Given the description of an element on the screen output the (x, y) to click on. 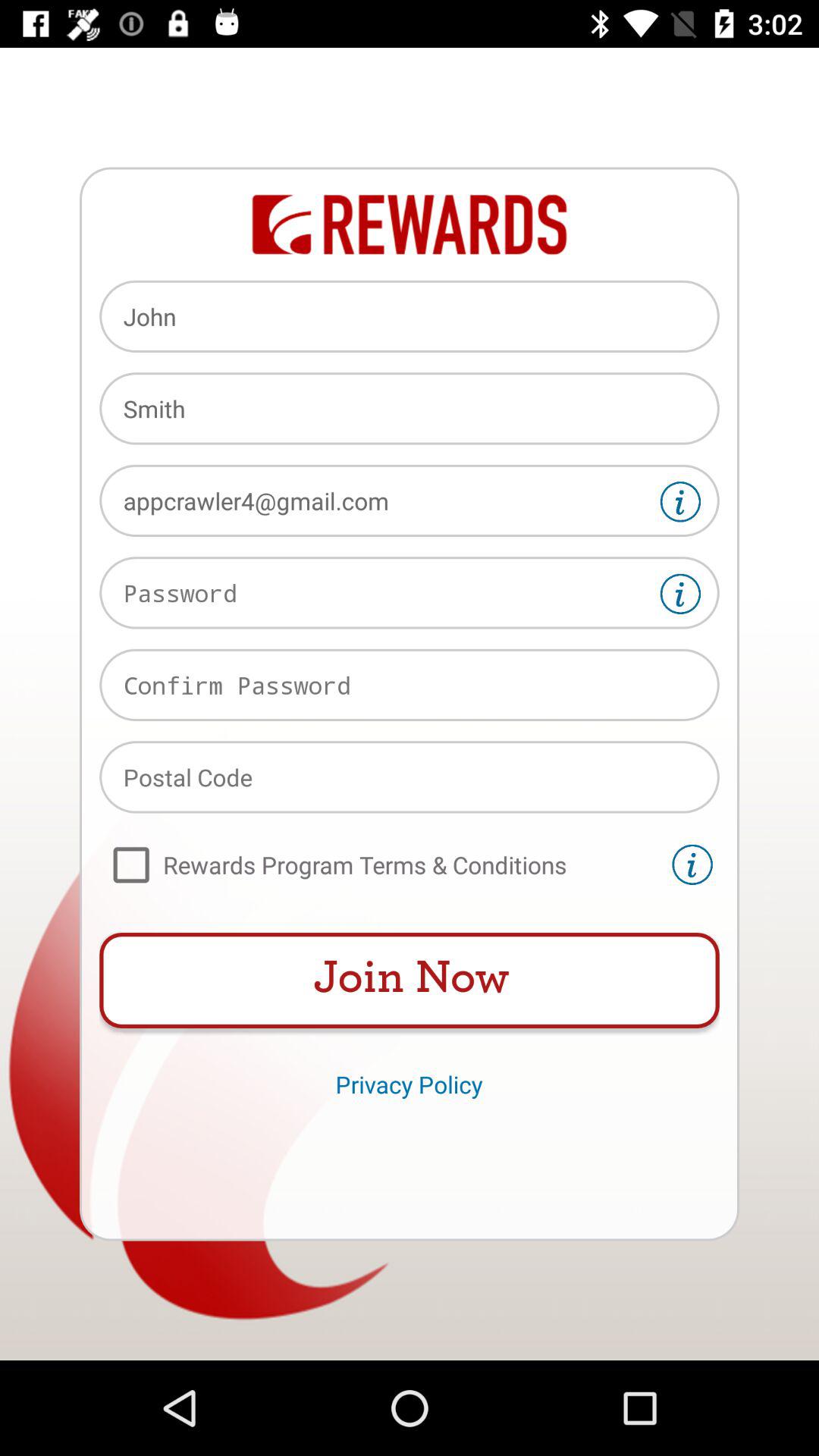
choose item above join now (382, 864)
